Given the description of an element on the screen output the (x, y) to click on. 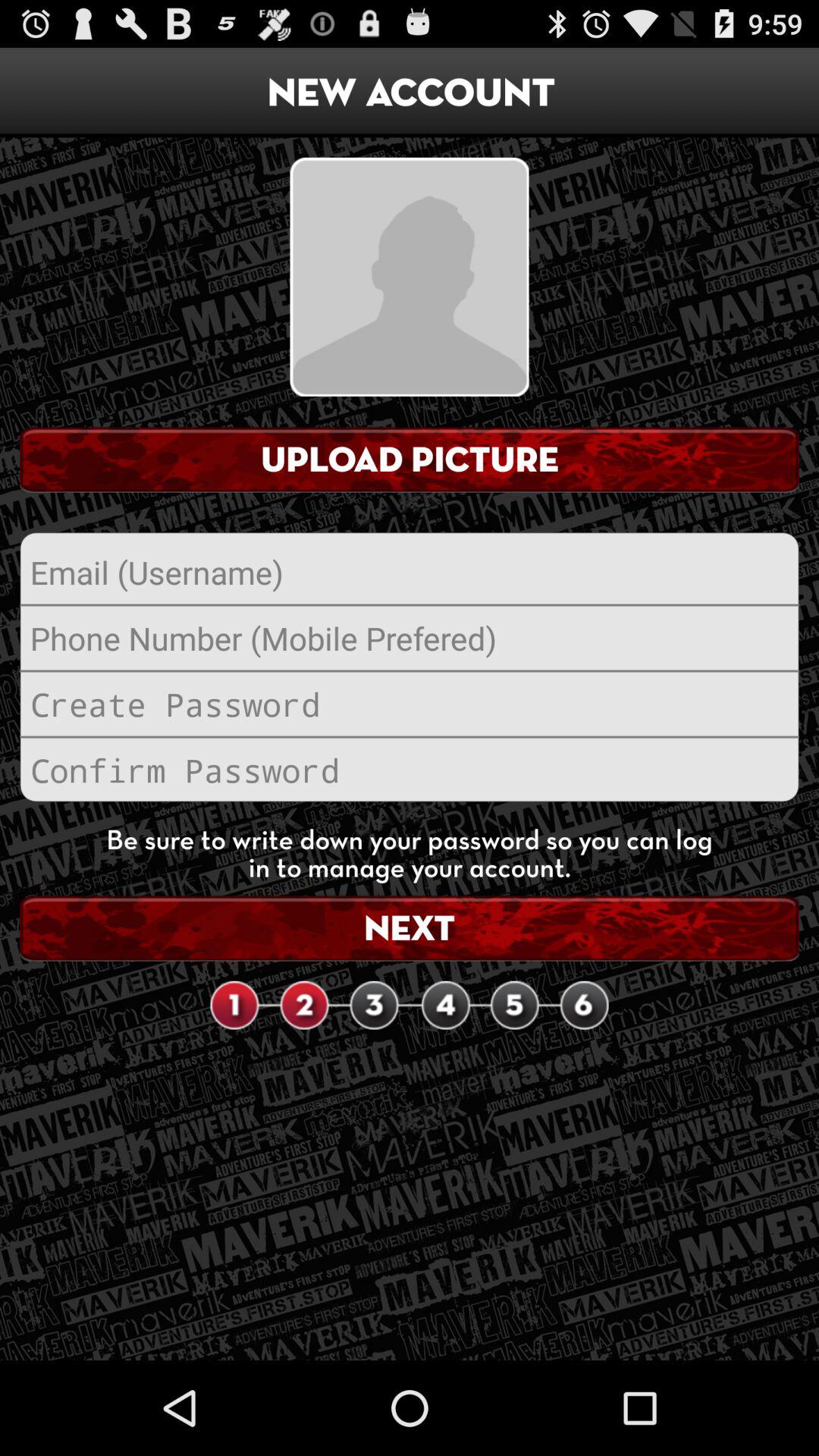
create password (409, 703)
